Given the description of an element on the screen output the (x, y) to click on. 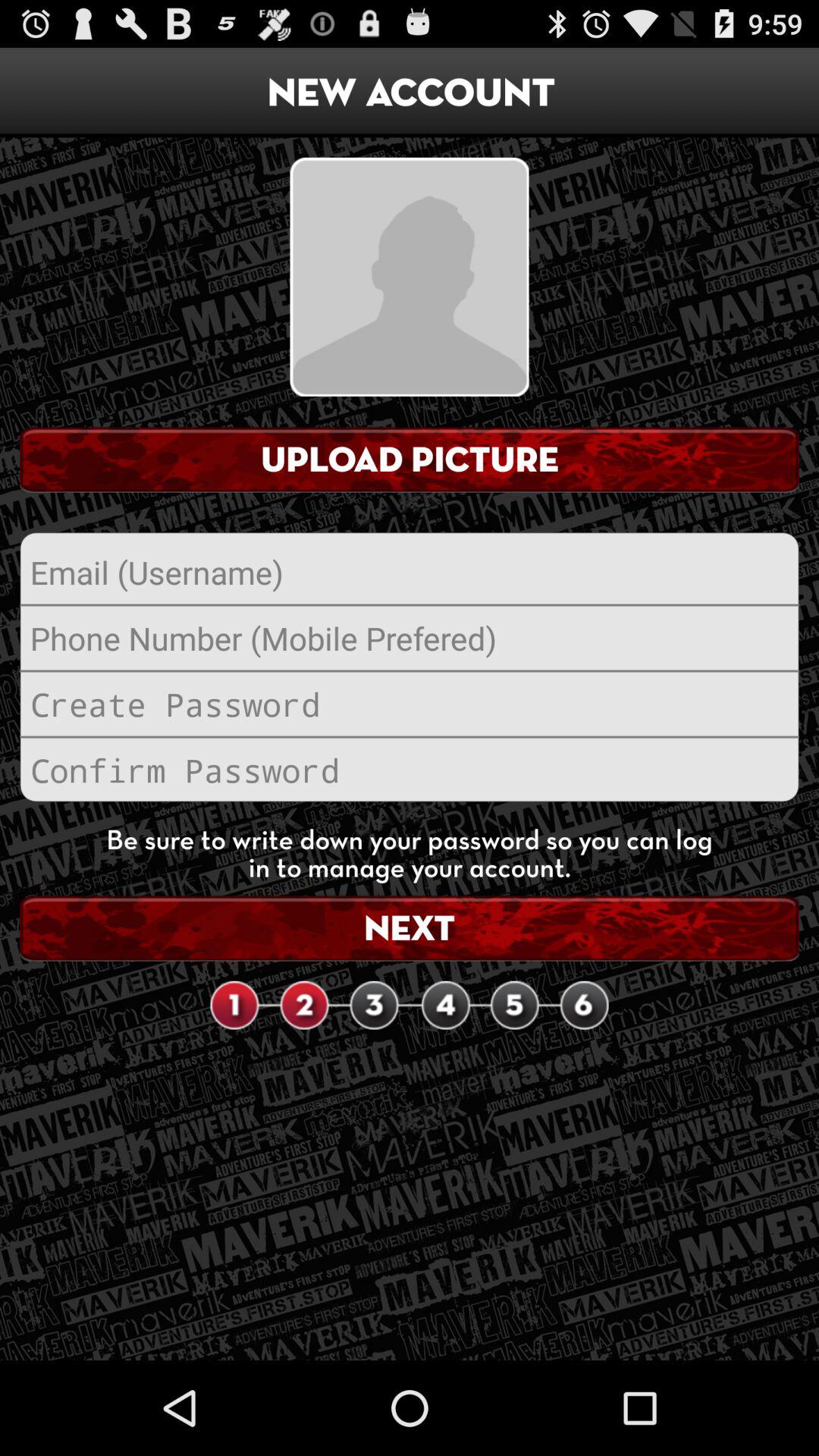
create password (409, 703)
